Given the description of an element on the screen output the (x, y) to click on. 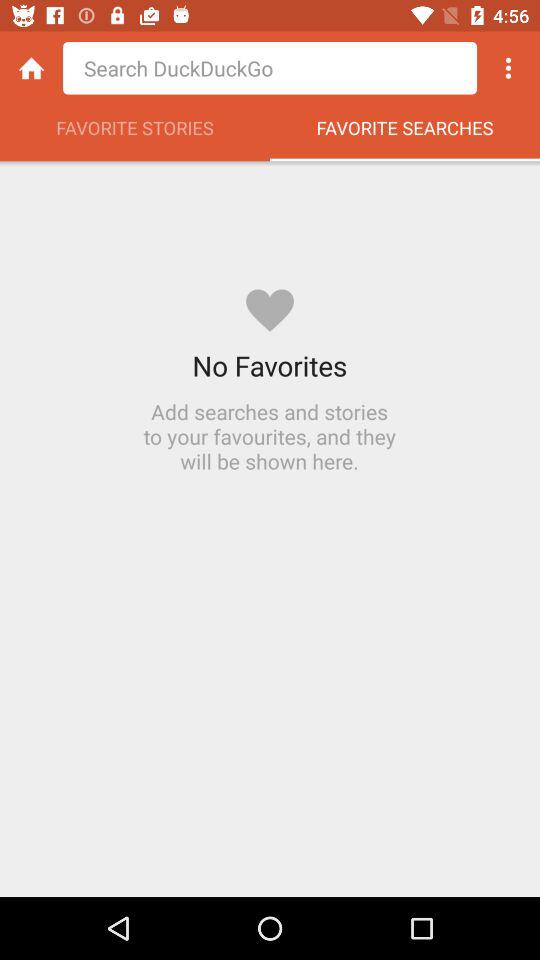
turn off favorite searches app (405, 133)
